Given the description of an element on the screen output the (x, y) to click on. 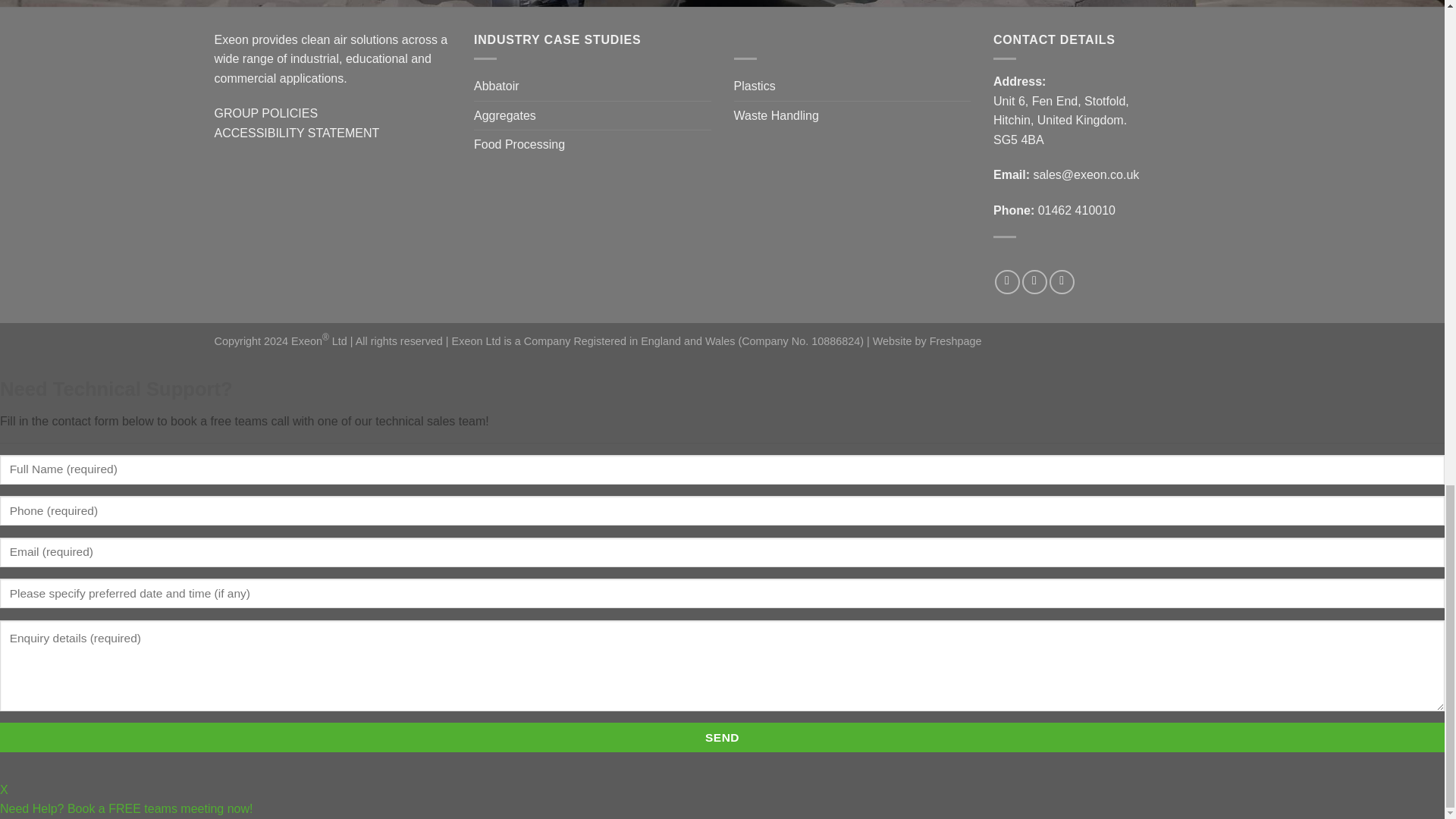
Send (722, 737)
Follow on Facebook (1007, 282)
Follow on Twitter (1034, 282)
Follow on LinkedIn (1061, 282)
